Given the description of an element on the screen output the (x, y) to click on. 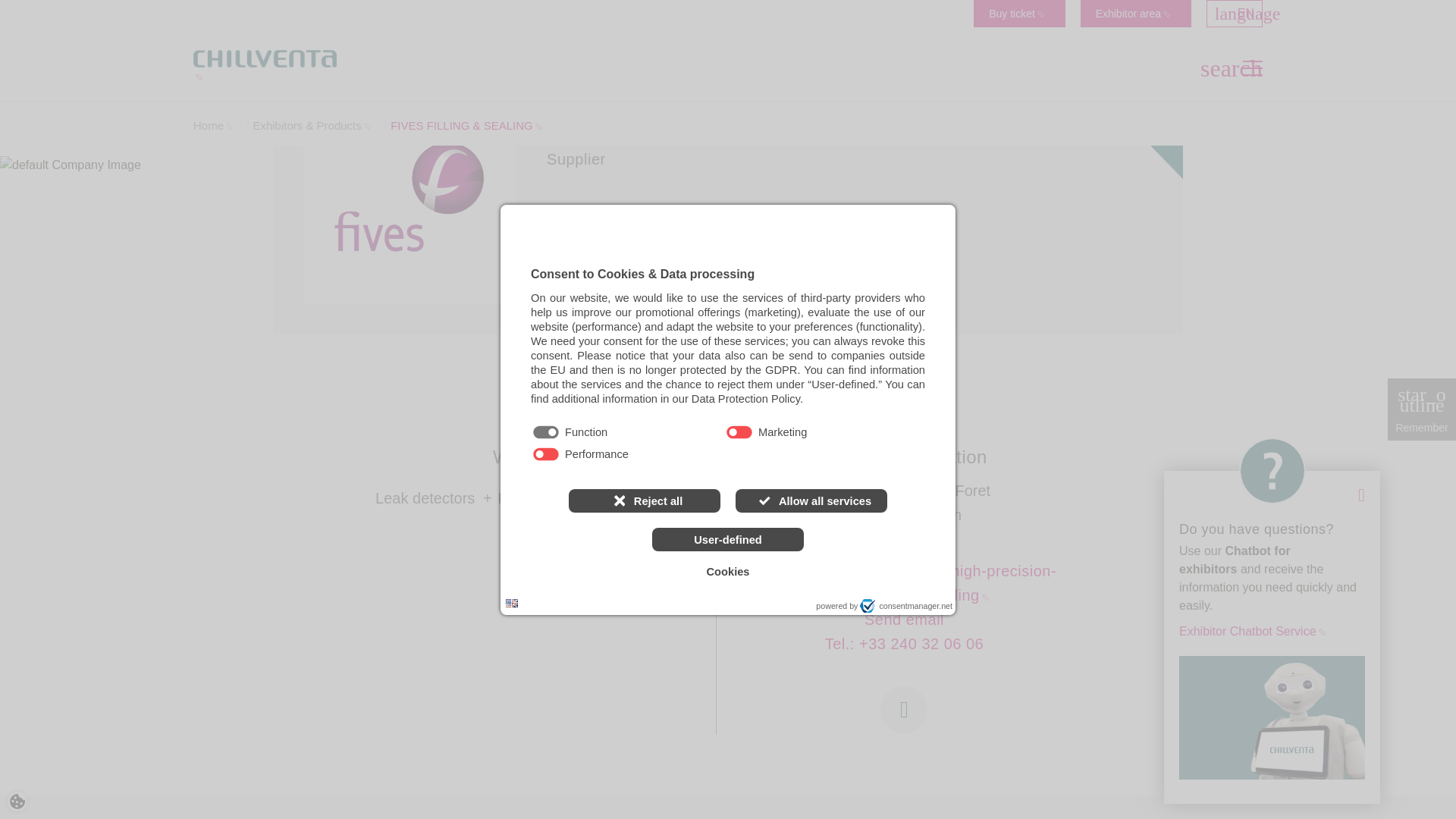
Reject all (644, 499)
User-defined (727, 539)
Buy ticket (1019, 13)
Cookies (727, 571)
consentmanager.net (906, 605)
Language: en (511, 602)
Language: en (511, 602)
Purpose (727, 443)
Exhibitor area (1135, 13)
Allow all services (810, 499)
search (1211, 68)
